Given the description of an element on the screen output the (x, y) to click on. 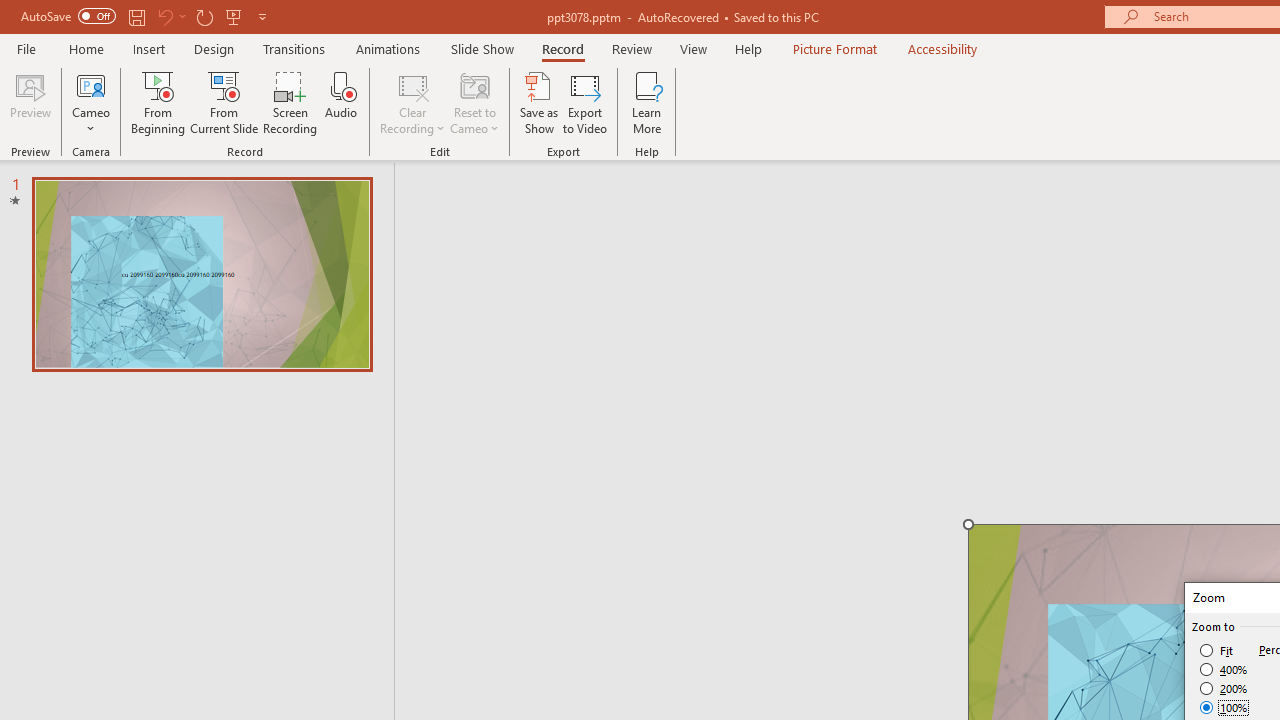
Fit (1217, 650)
